Given the description of an element on the screen output the (x, y) to click on. 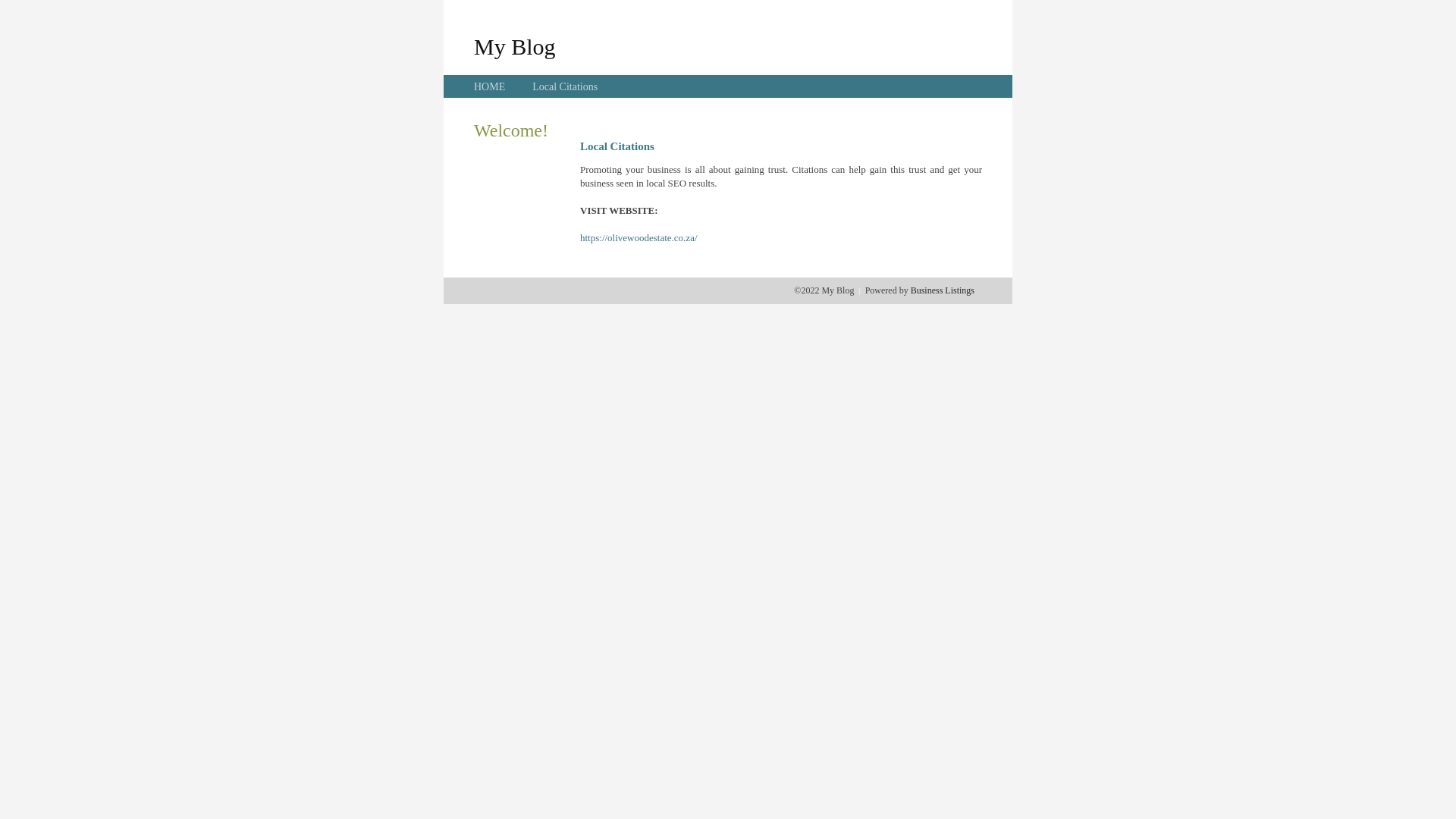
https://olivewoodestate.co.za/ Element type: text (638, 237)
My Blog Element type: text (514, 46)
HOME Element type: text (489, 86)
Business Listings Element type: text (942, 290)
Local Citations Element type: text (564, 86)
